Given the description of an element on the screen output the (x, y) to click on. 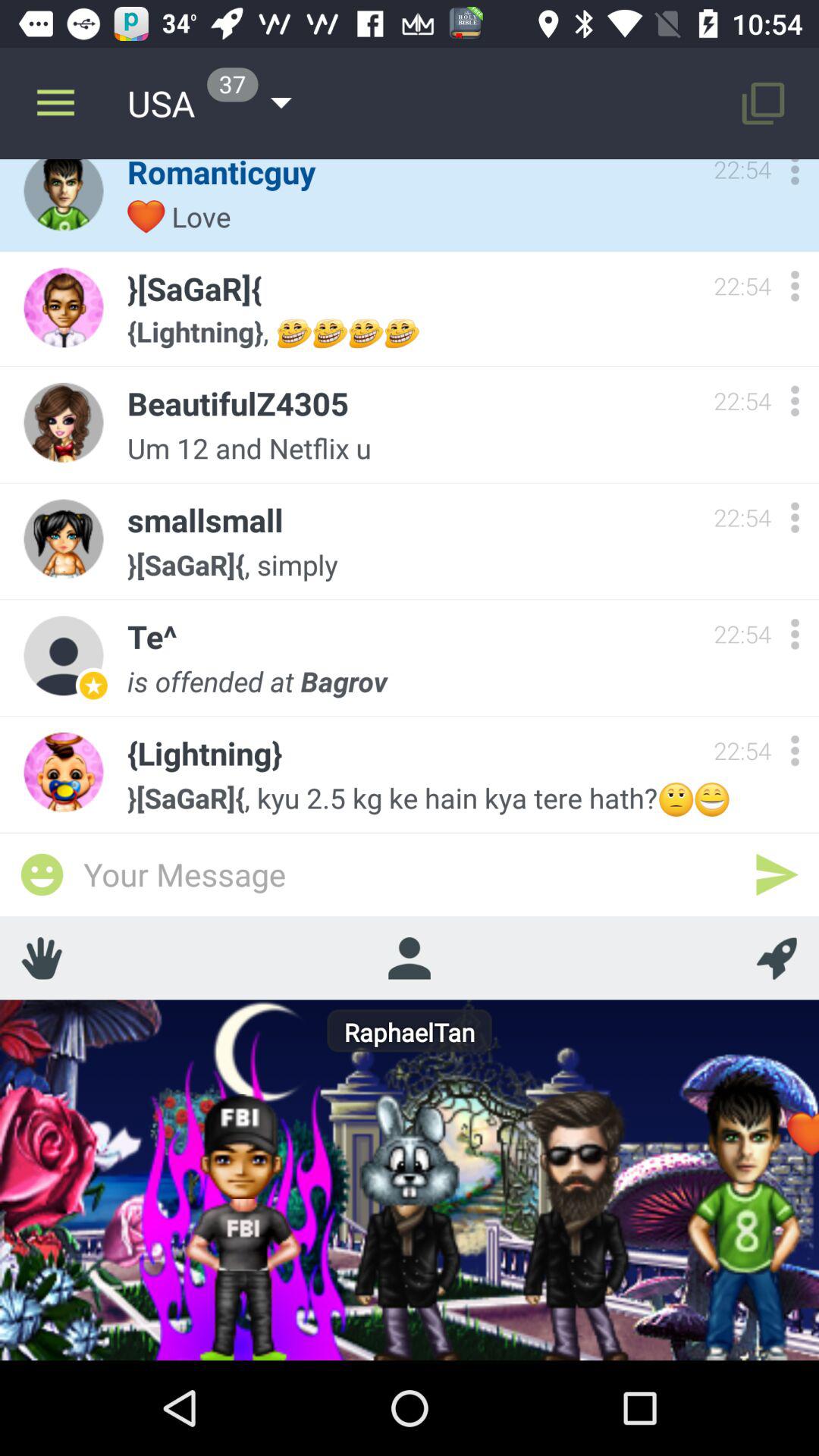
type message (409, 873)
